Given the description of an element on the screen output the (x, y) to click on. 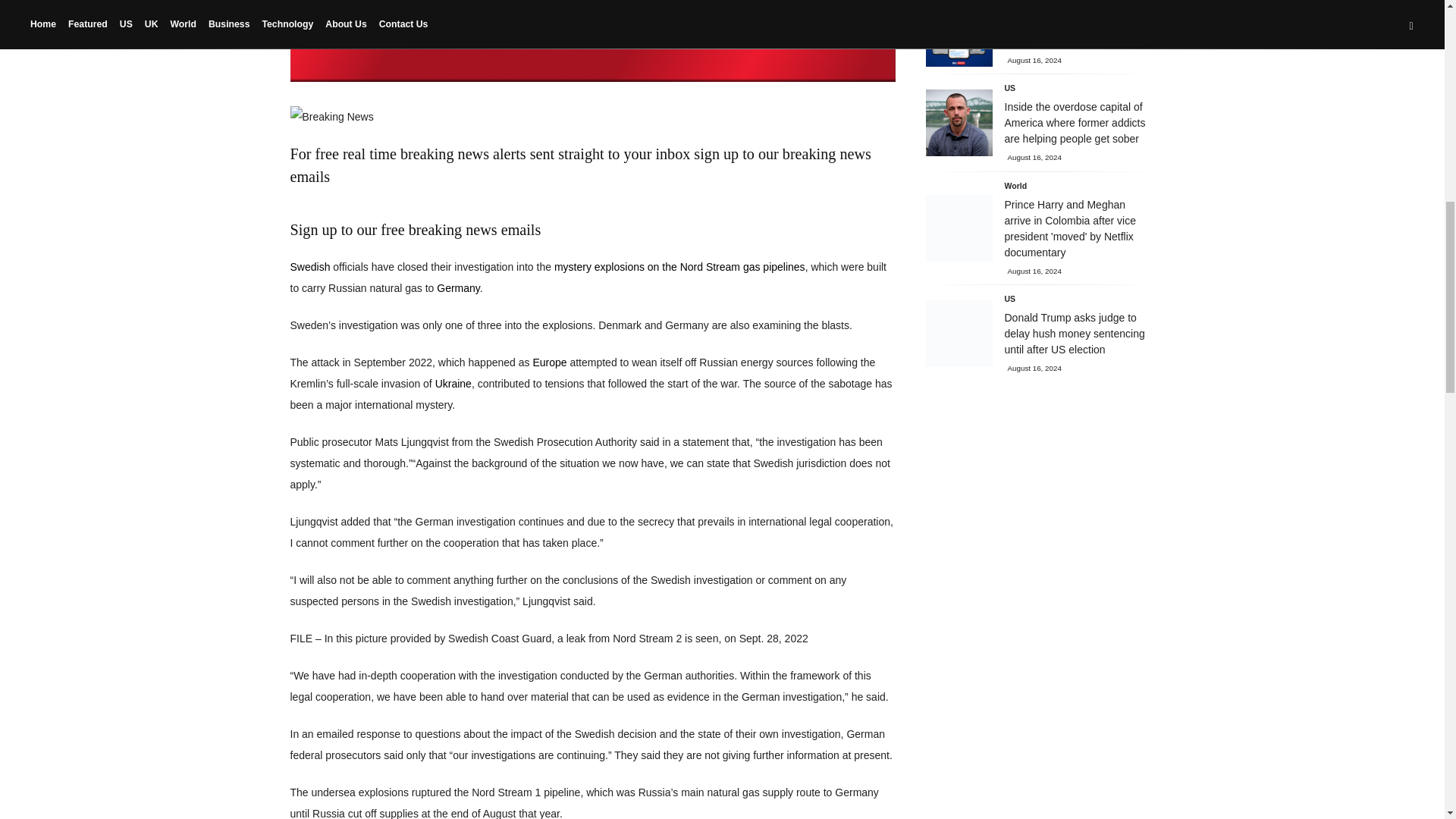
mystery explosions on the Nord Stream gas pipelines (679, 266)
Germany (458, 287)
Ukraine (453, 383)
Swedish (309, 266)
Europe (549, 362)
